Given the description of an element on the screen output the (x, y) to click on. 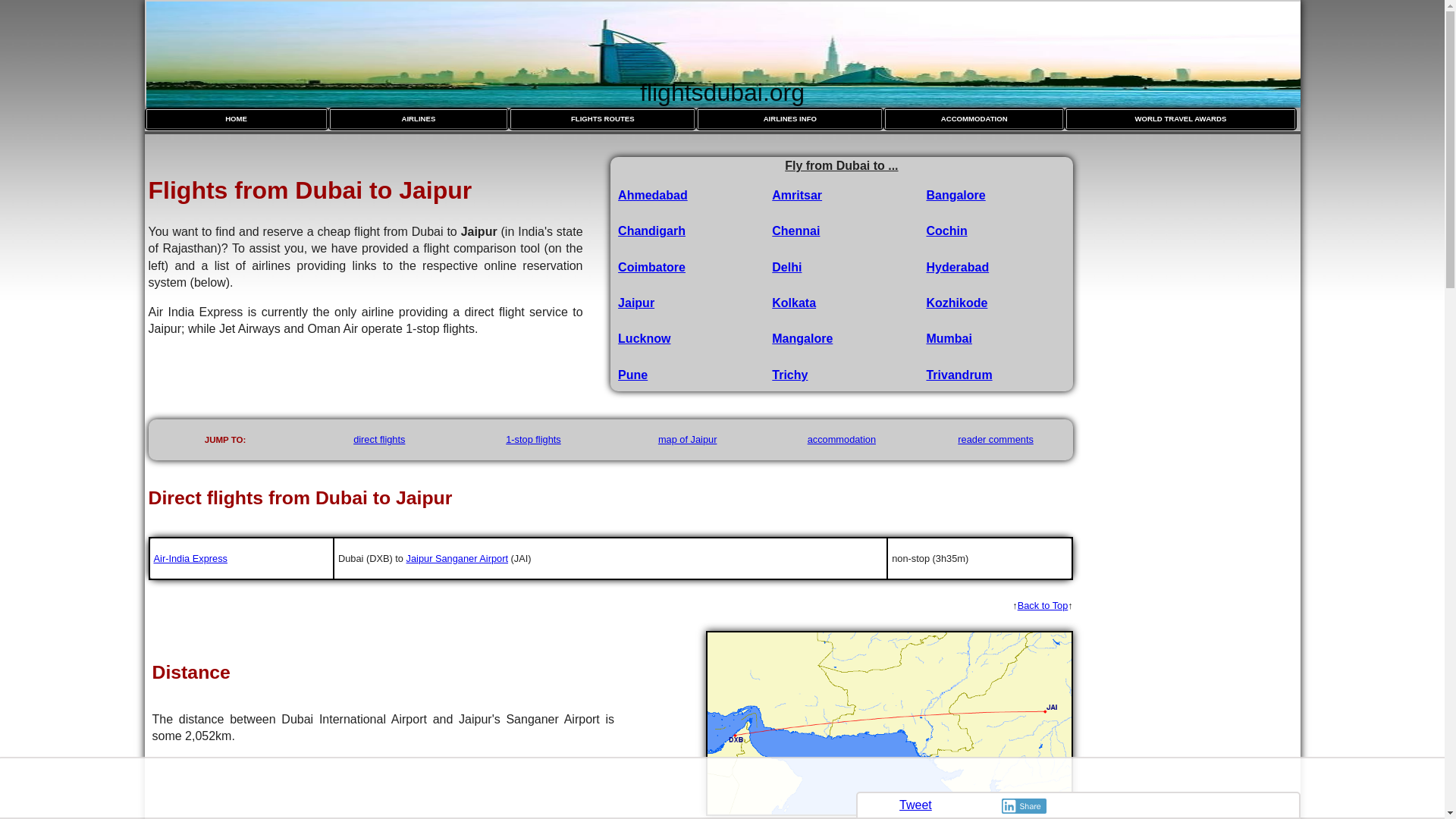
Share (1023, 806)
Chandigarh (651, 230)
HOME (235, 118)
Kolkata (793, 302)
go back to our Home Page (235, 118)
Chennai (795, 230)
Amritsar (796, 195)
Tweet (915, 804)
Share this site (1078, 805)
Ahmedabad (652, 195)
Jaipur (635, 302)
Kozhikode (956, 302)
WORLD TRAVEL AWARDS (1180, 118)
Coimbatore (651, 267)
ACCOMMODATION (973, 118)
